Given the description of an element on the screen output the (x, y) to click on. 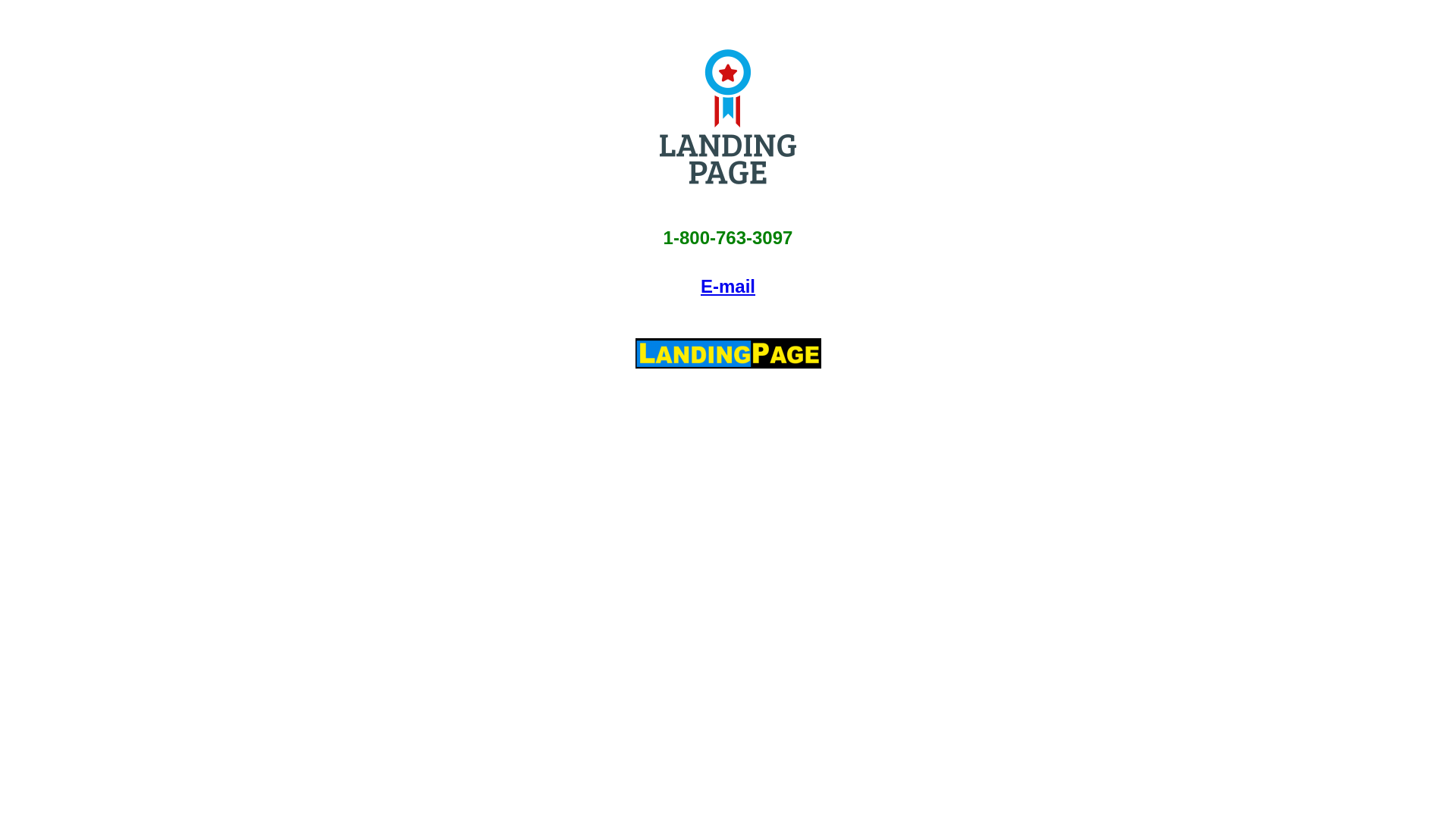
E-mail Element type: text (727, 286)
